Given the description of an element on the screen output the (x, y) to click on. 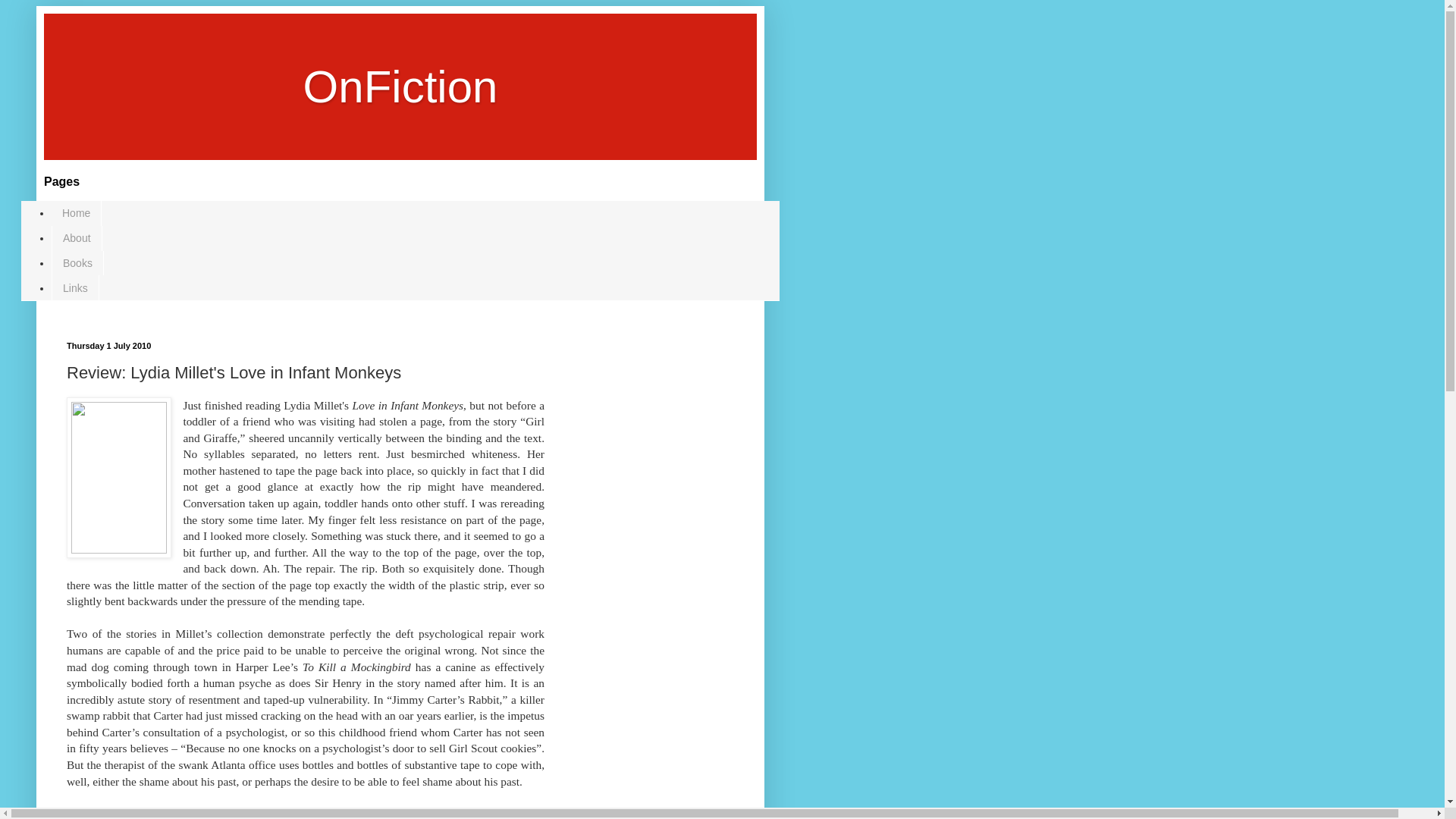
Books (76, 263)
About (75, 238)
OnFiction (399, 86)
Links (74, 287)
Home (75, 213)
